Given the description of an element on the screen output the (x, y) to click on. 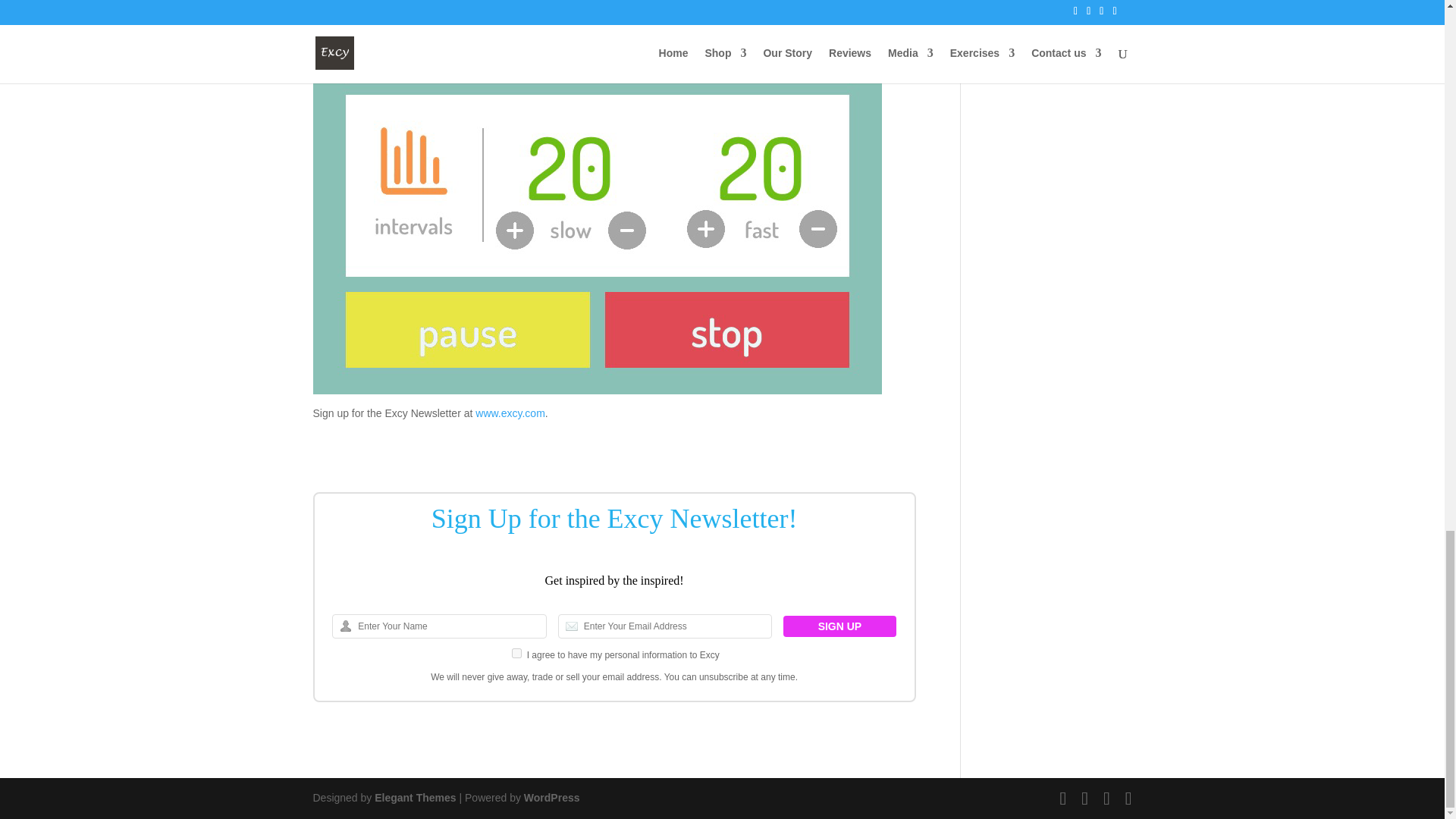
Premium WordPress Themes (414, 797)
SIGN UP (839, 626)
on (516, 653)
